Given the description of an element on the screen output the (x, y) to click on. 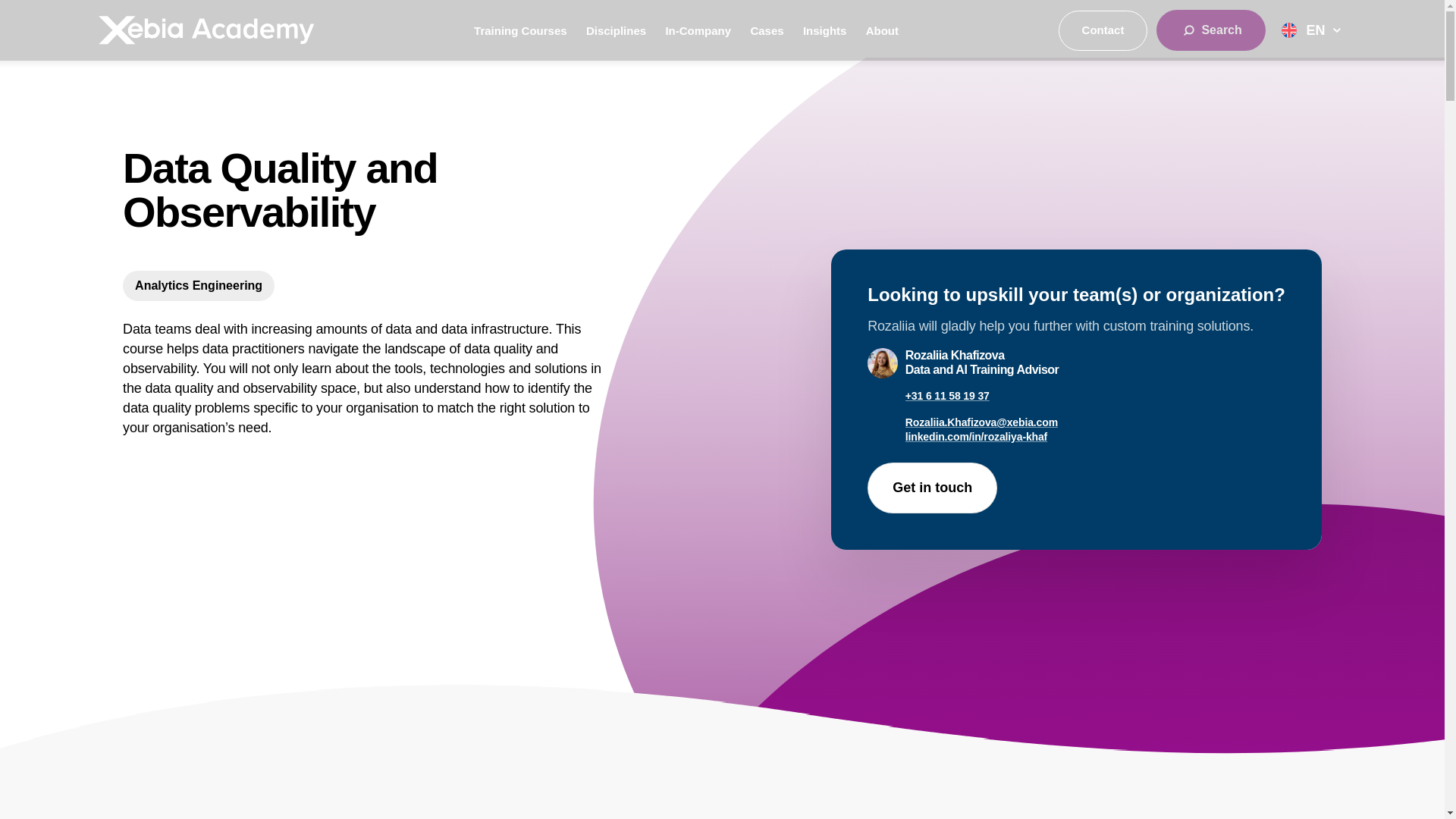
Disciplines (616, 30)
Disciplines (616, 30)
Contact (1103, 30)
Training Courses (520, 30)
In-Company (697, 30)
Training Courses (520, 30)
In-Company (697, 30)
Search (1210, 29)
